Given the description of an element on the screen output the (x, y) to click on. 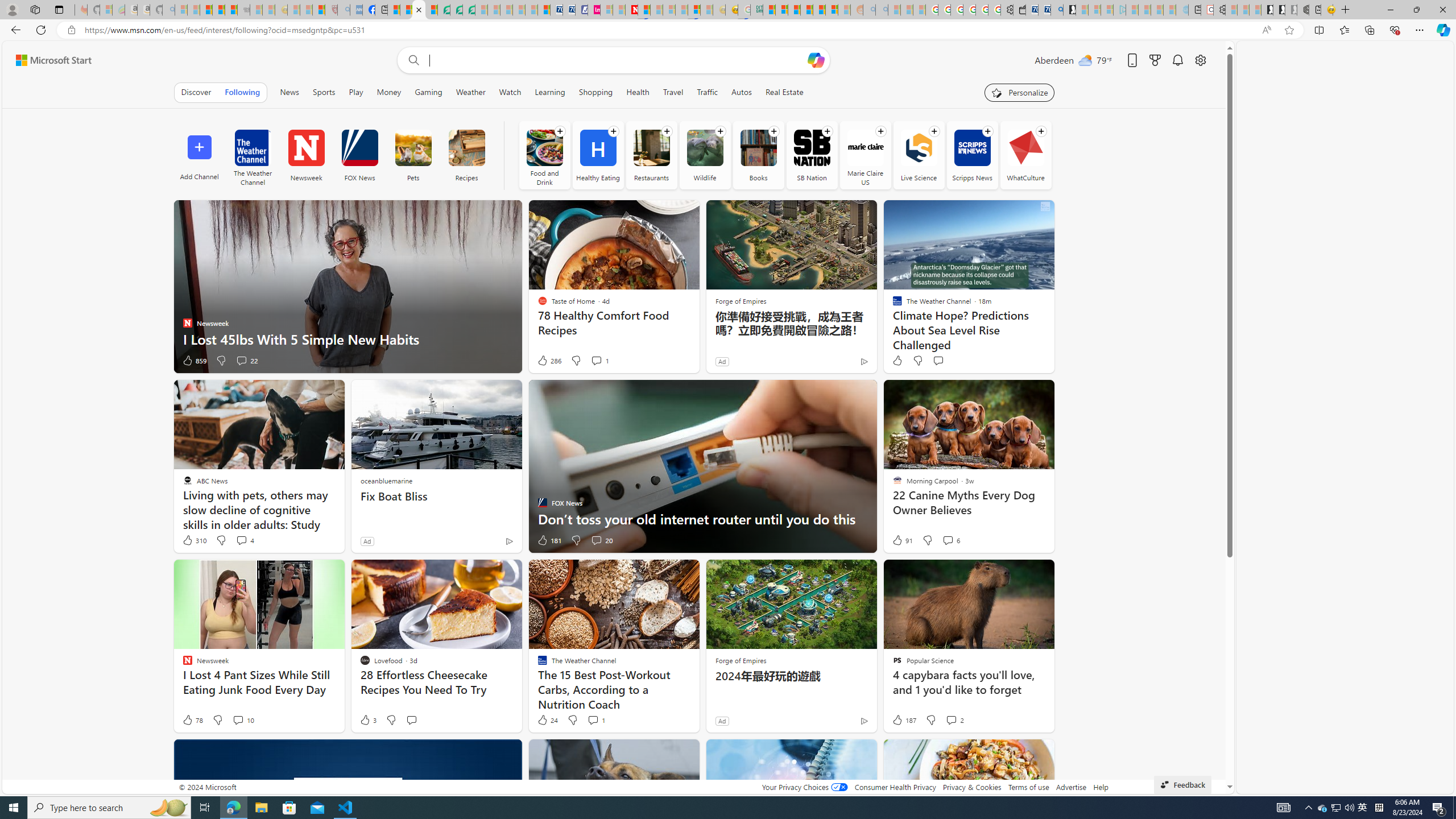
View comments 10 Comment (237, 719)
310 Like (193, 539)
Marie Claire US (865, 147)
